Given the description of an element on the screen output the (x, y) to click on. 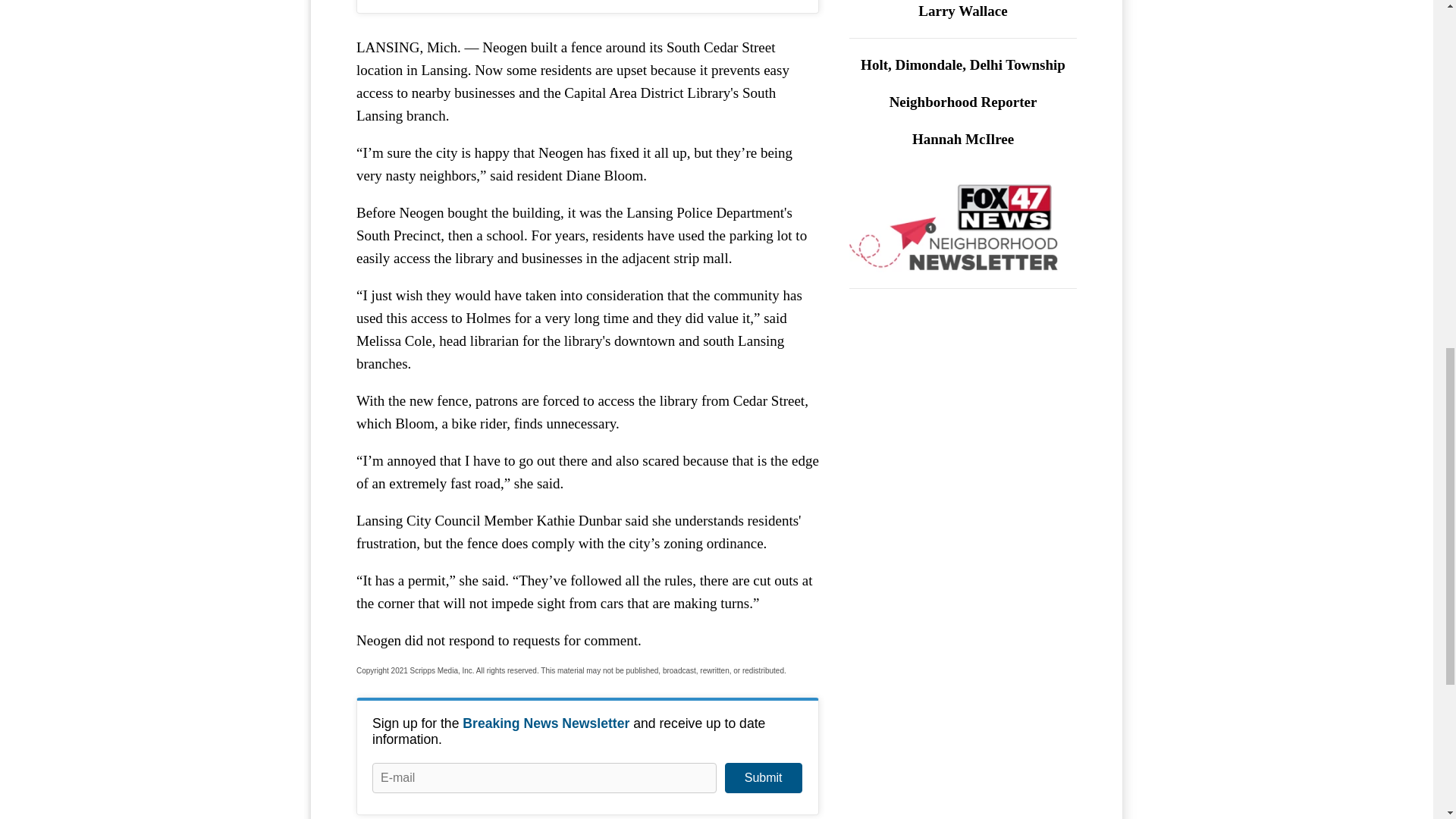
Submit (763, 777)
